Given the description of an element on the screen output the (x, y) to click on. 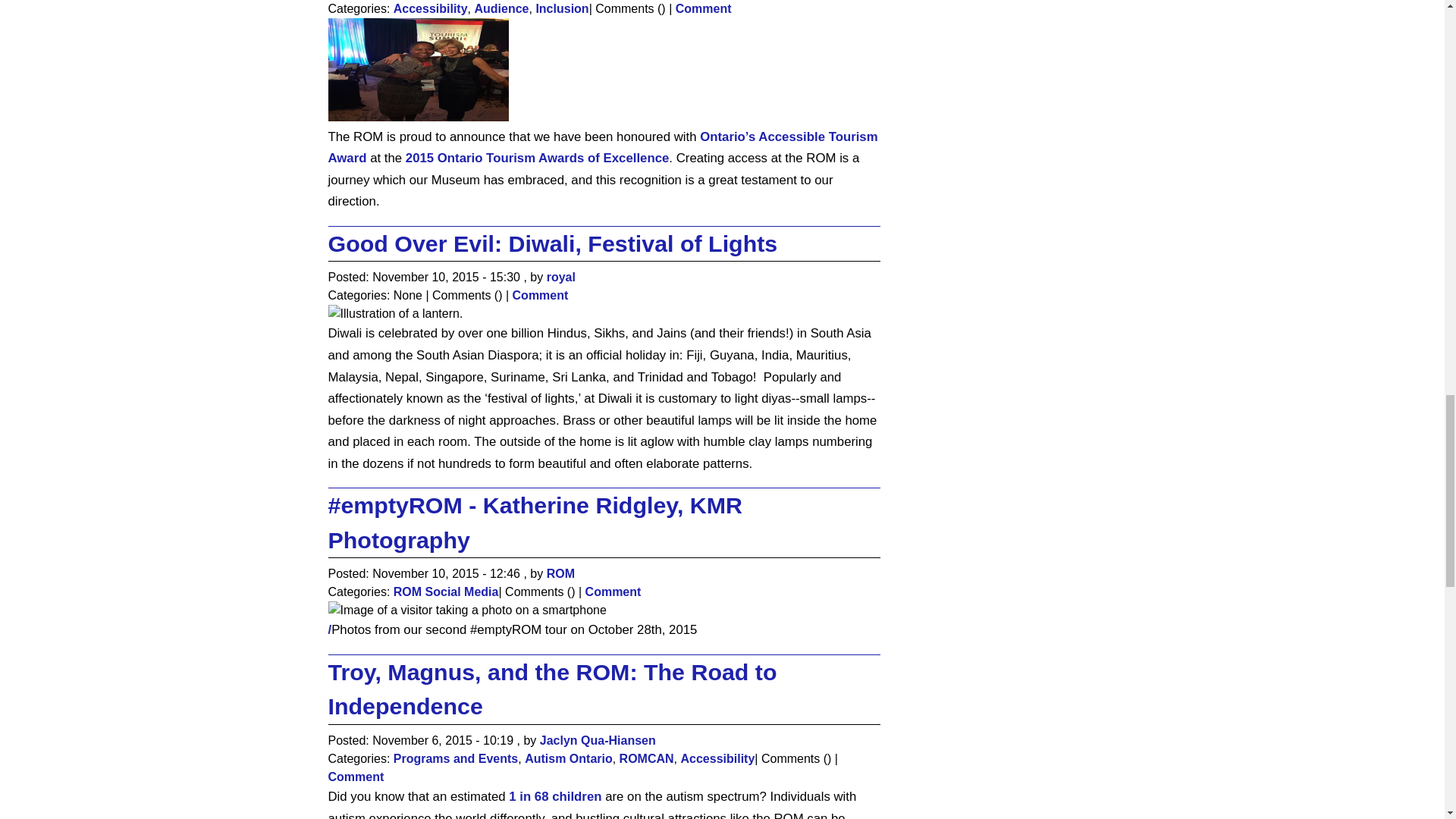
Photo courtesy of KMR Photography. (466, 610)
Diya, drawing on ipad. Source: Deepali Dewan, ROM. (395, 313)
